Given the description of an element on the screen output the (x, y) to click on. 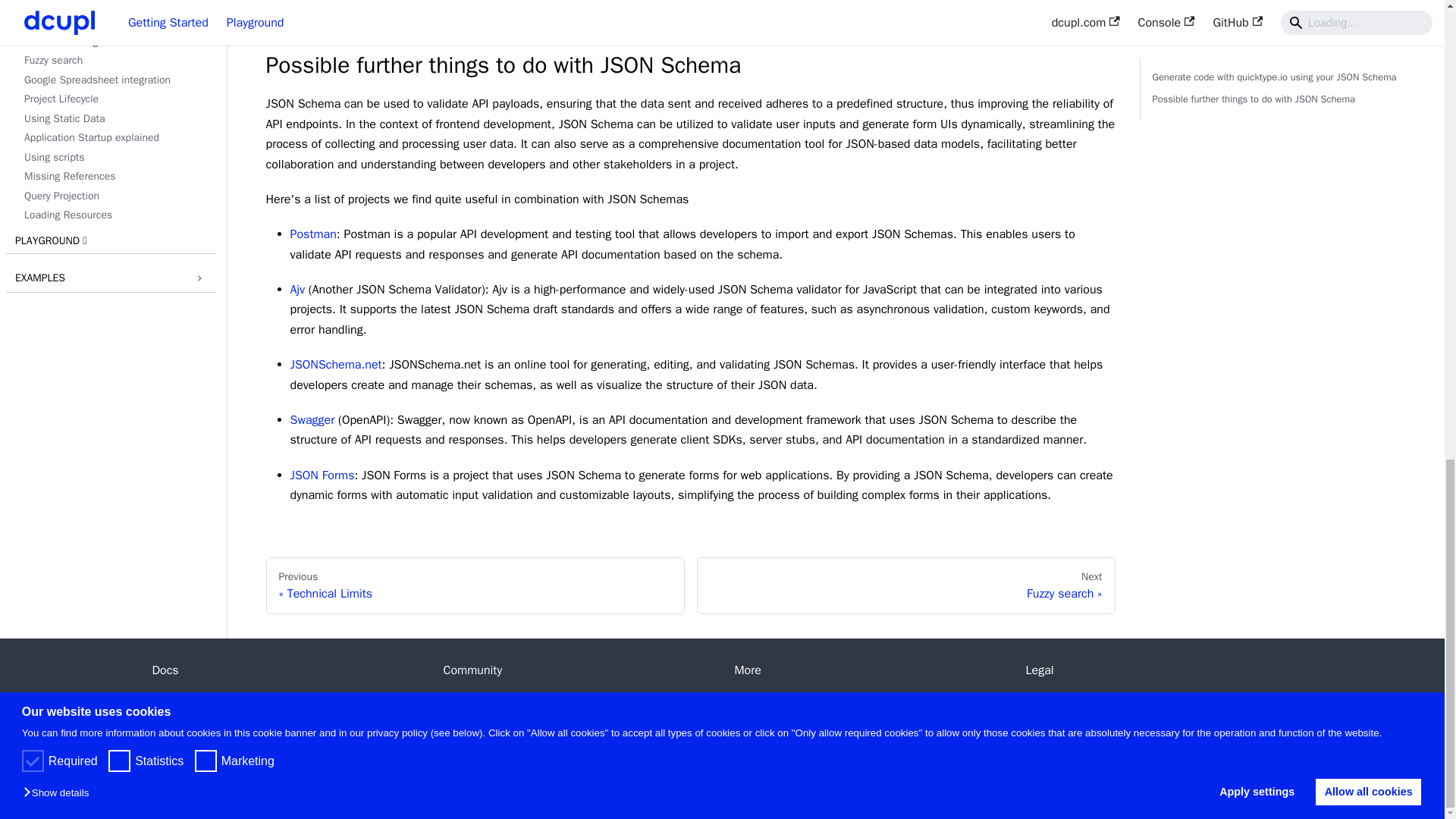
Postman (312, 233)
